Given the description of an element on the screen output the (x, y) to click on. 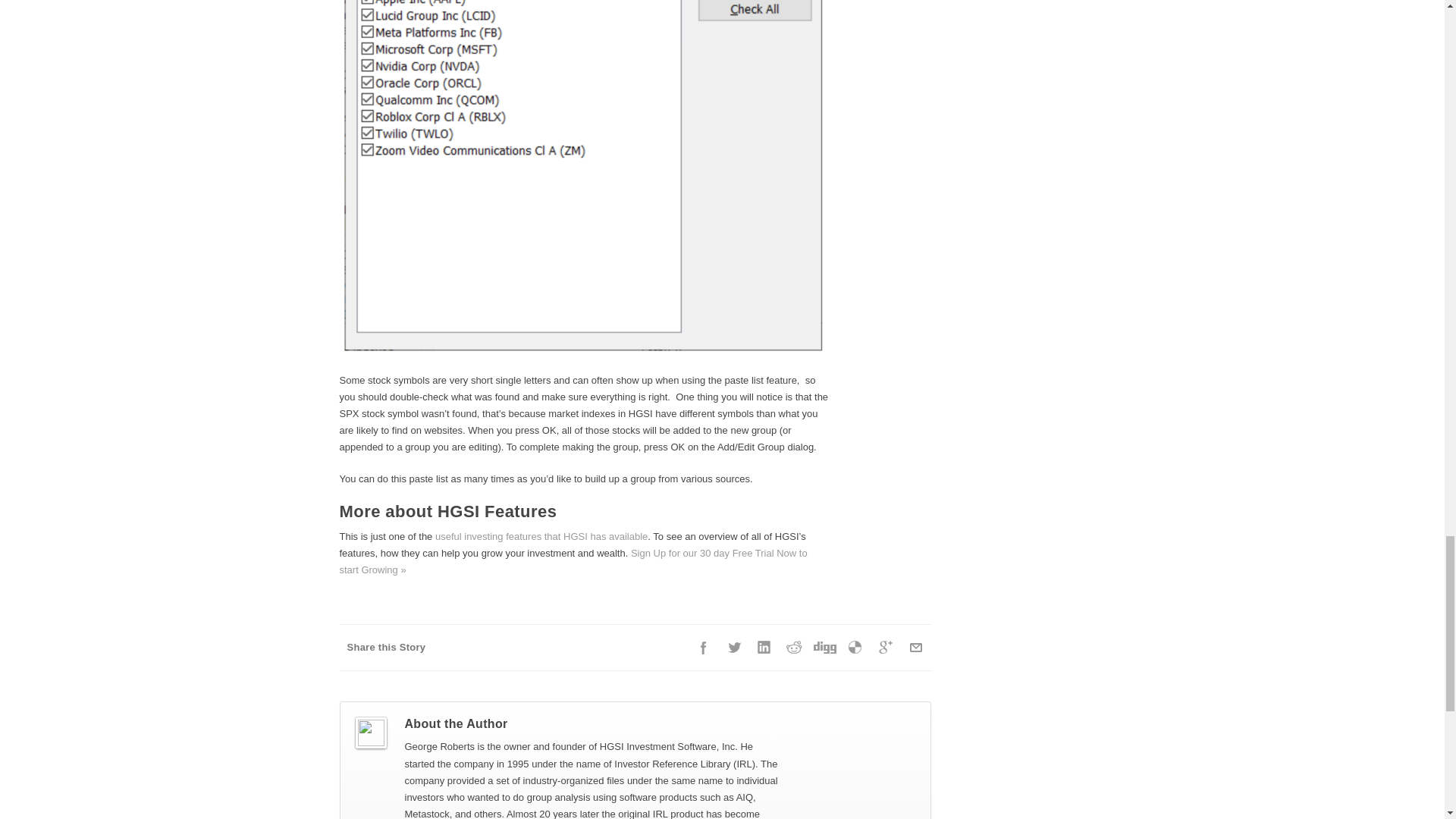
Reddit (793, 647)
Facebook (703, 647)
Twitter (734, 647)
useful investing features that HGSI has available (541, 536)
Delicious (855, 647)
LinkedIn (763, 647)
Digg (824, 647)
